Given the description of an element on the screen output the (x, y) to click on. 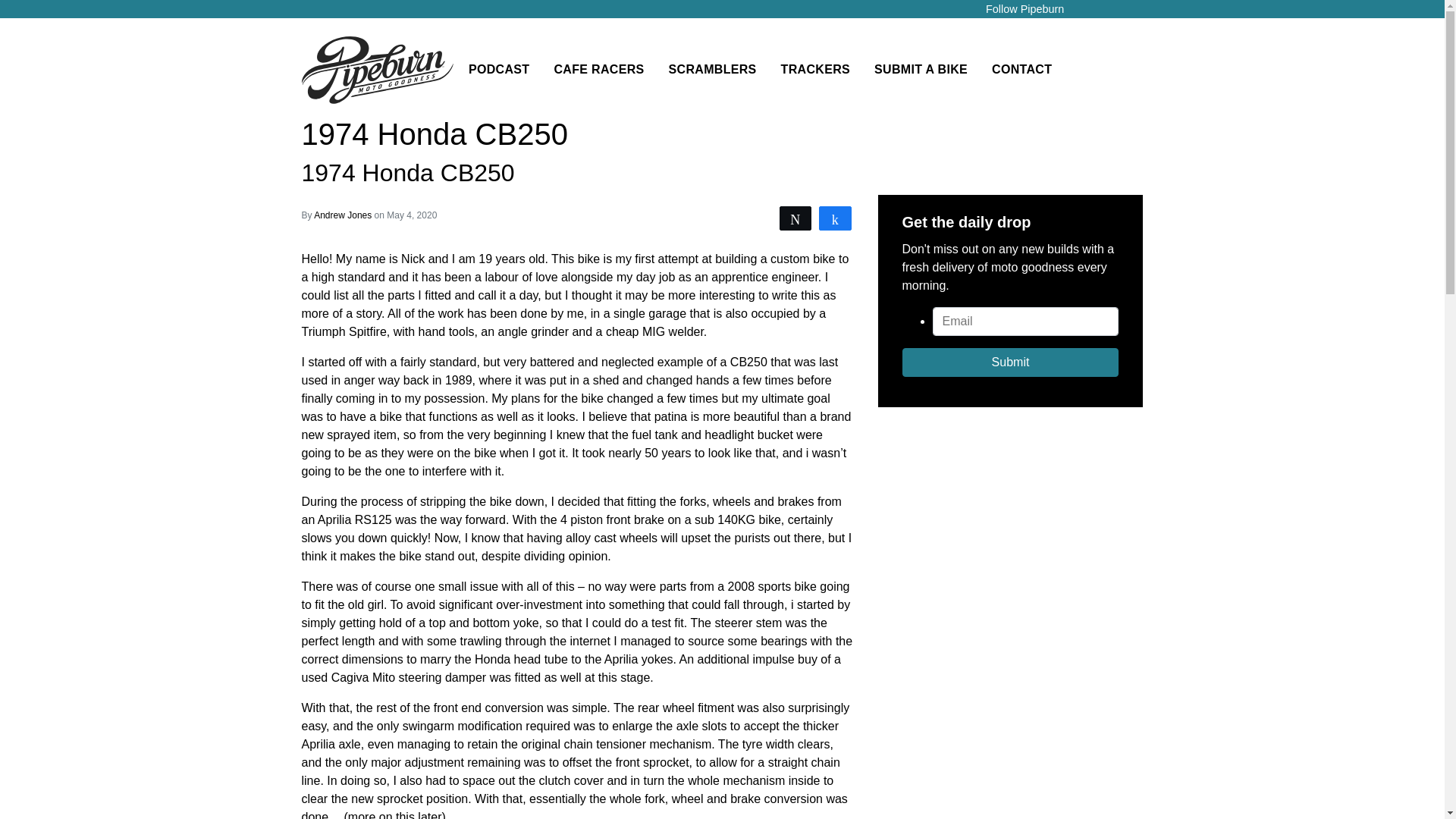
SUBMIT A BIKE (920, 69)
PODCAST (499, 69)
TRACKERS (814, 69)
CONTACT (1021, 69)
Submit (1010, 362)
Andrew Jones (344, 214)
CAFE RACERS (598, 69)
SCRAMBLERS (712, 69)
